Given the description of an element on the screen output the (x, y) to click on. 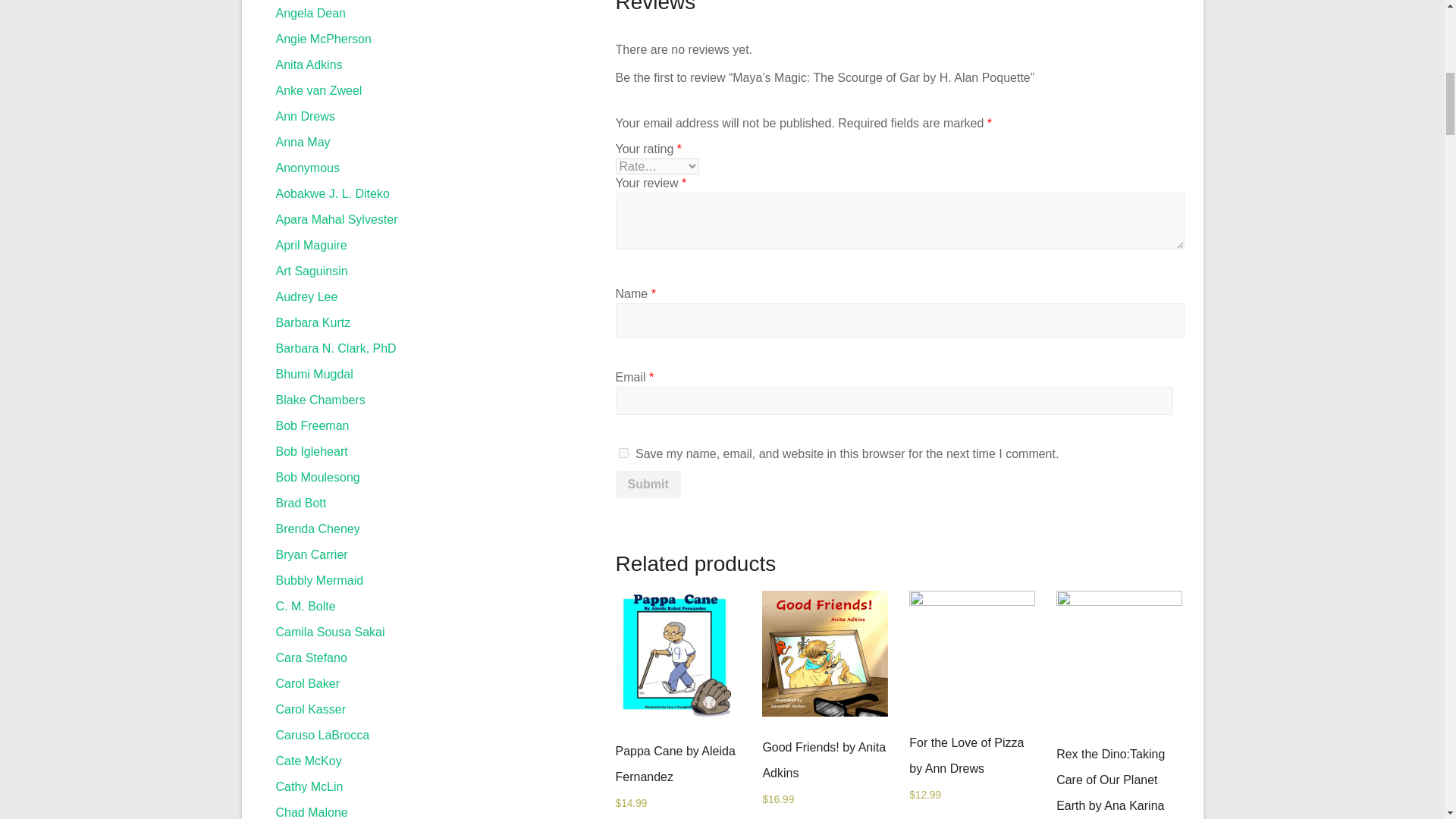
Submit (648, 483)
yes (623, 452)
Submit (648, 483)
